Given the description of an element on the screen output the (x, y) to click on. 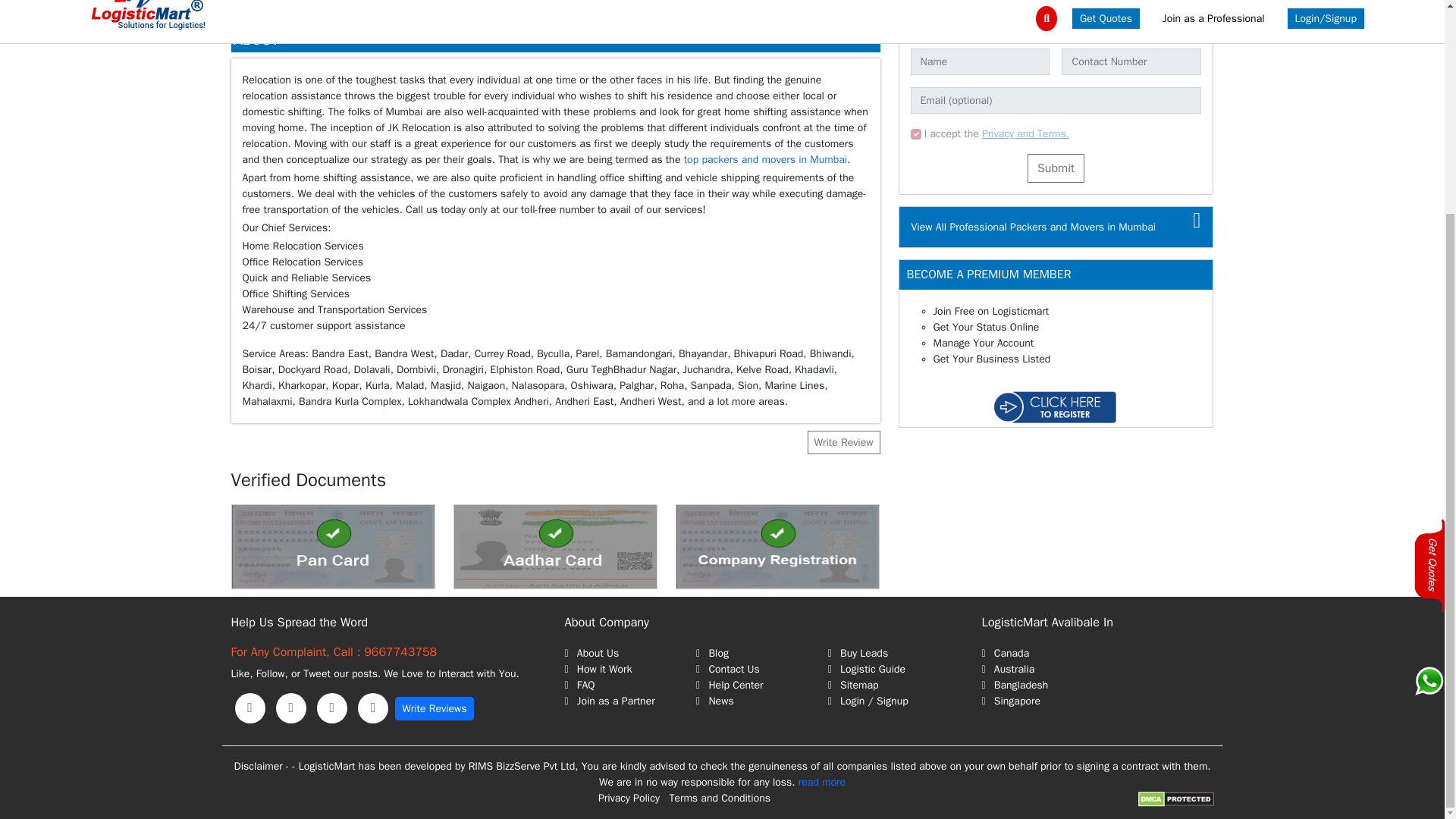
Privacy Policy (628, 797)
Write Reviews (433, 708)
youtube (373, 707)
News (761, 700)
Blog (761, 652)
FAQ (629, 684)
linkedin (290, 707)
Write Review (842, 442)
write-review (433, 708)
How it Work (629, 668)
read more (821, 781)
Privacy and Terms. (1024, 133)
View All Professional Packers and Movers in Mumbai (1033, 226)
Australia (1096, 668)
Join as a Partner (629, 700)
